Given the description of an element on the screen output the (x, y) to click on. 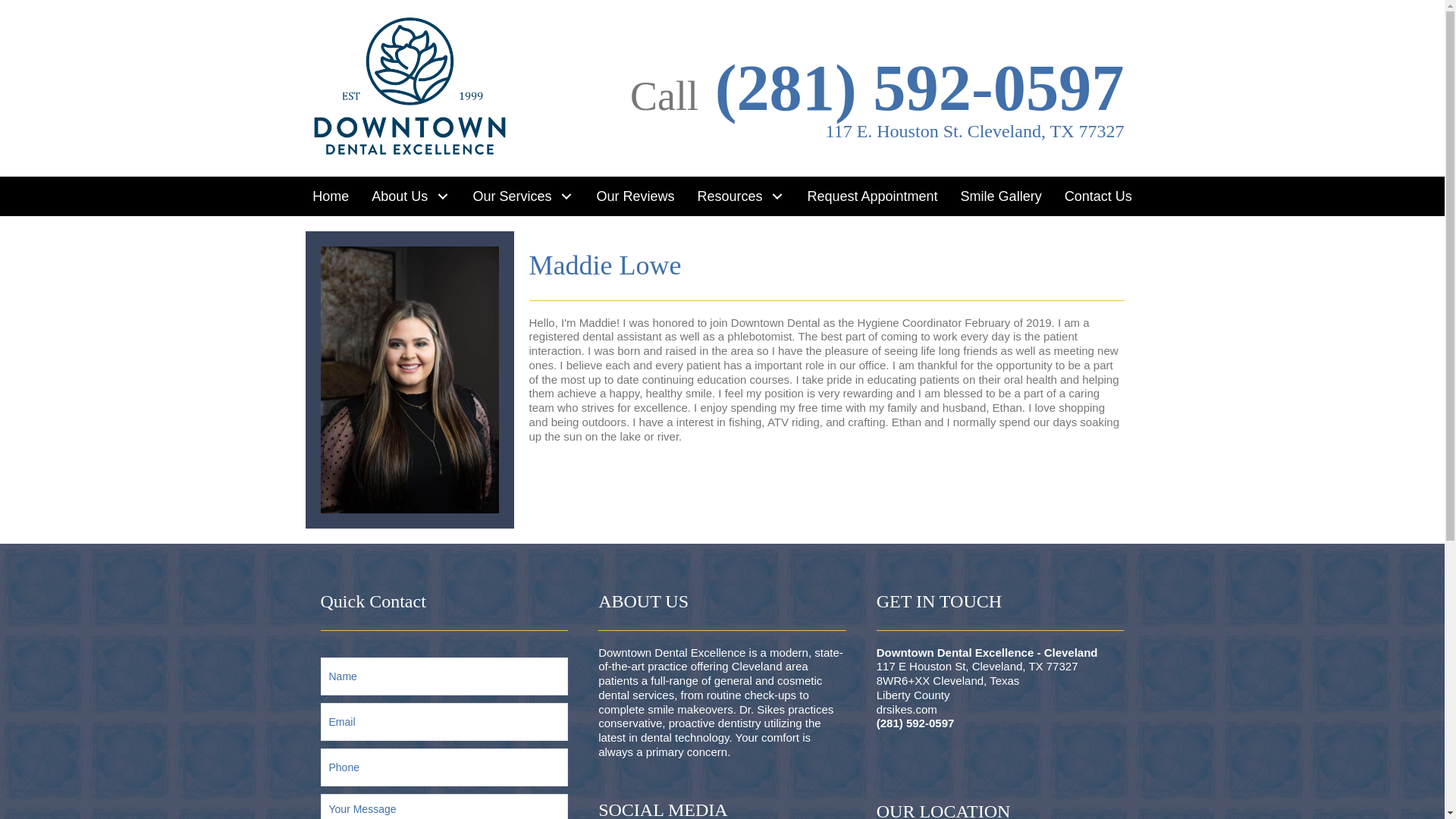
Home (330, 196)
Our Services (523, 196)
About Us (410, 196)
